Given the description of an element on the screen output the (x, y) to click on. 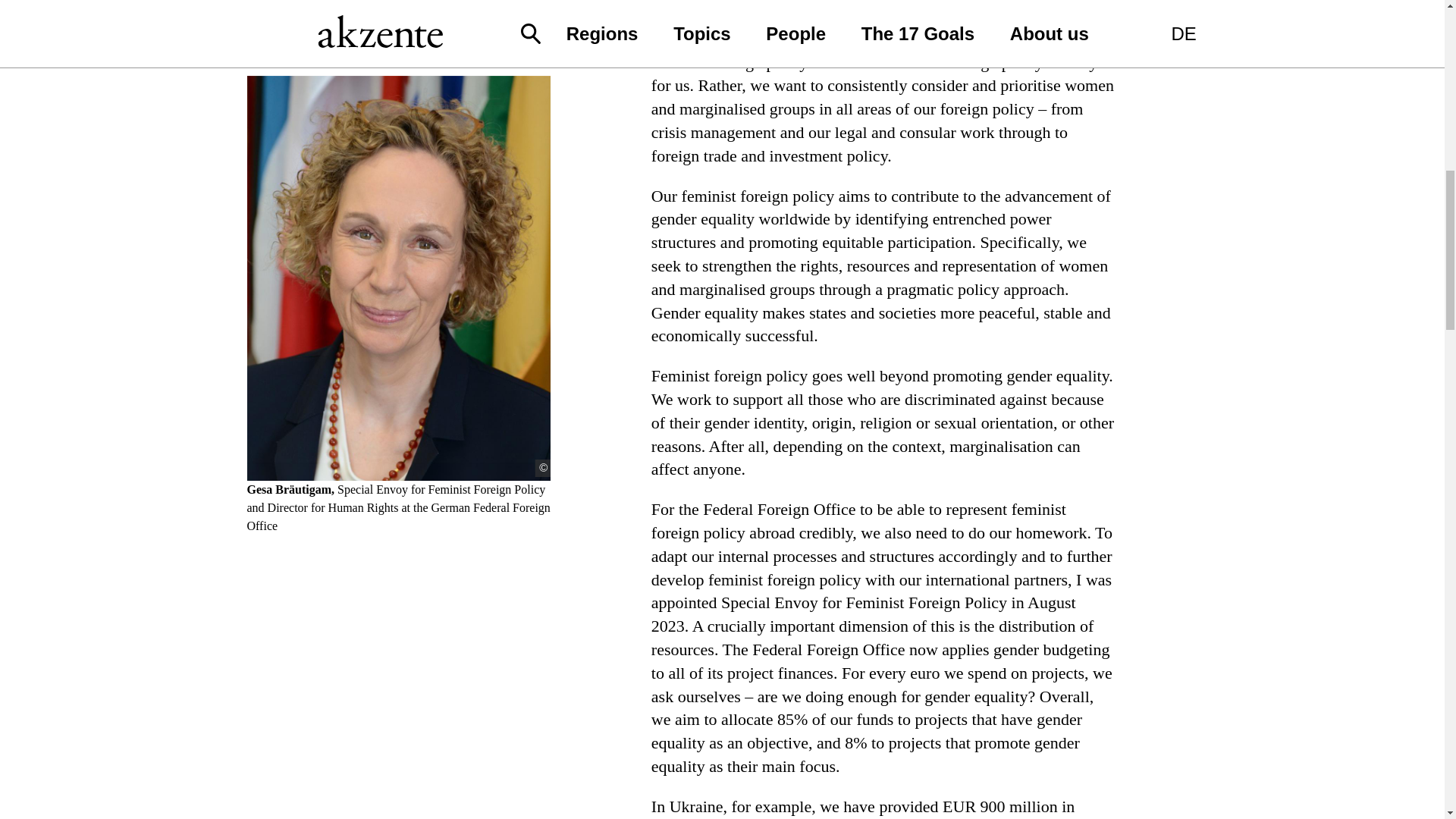
Guidelines for Feminist Foreign Policy (941, 38)
